Given the description of an element on the screen output the (x, y) to click on. 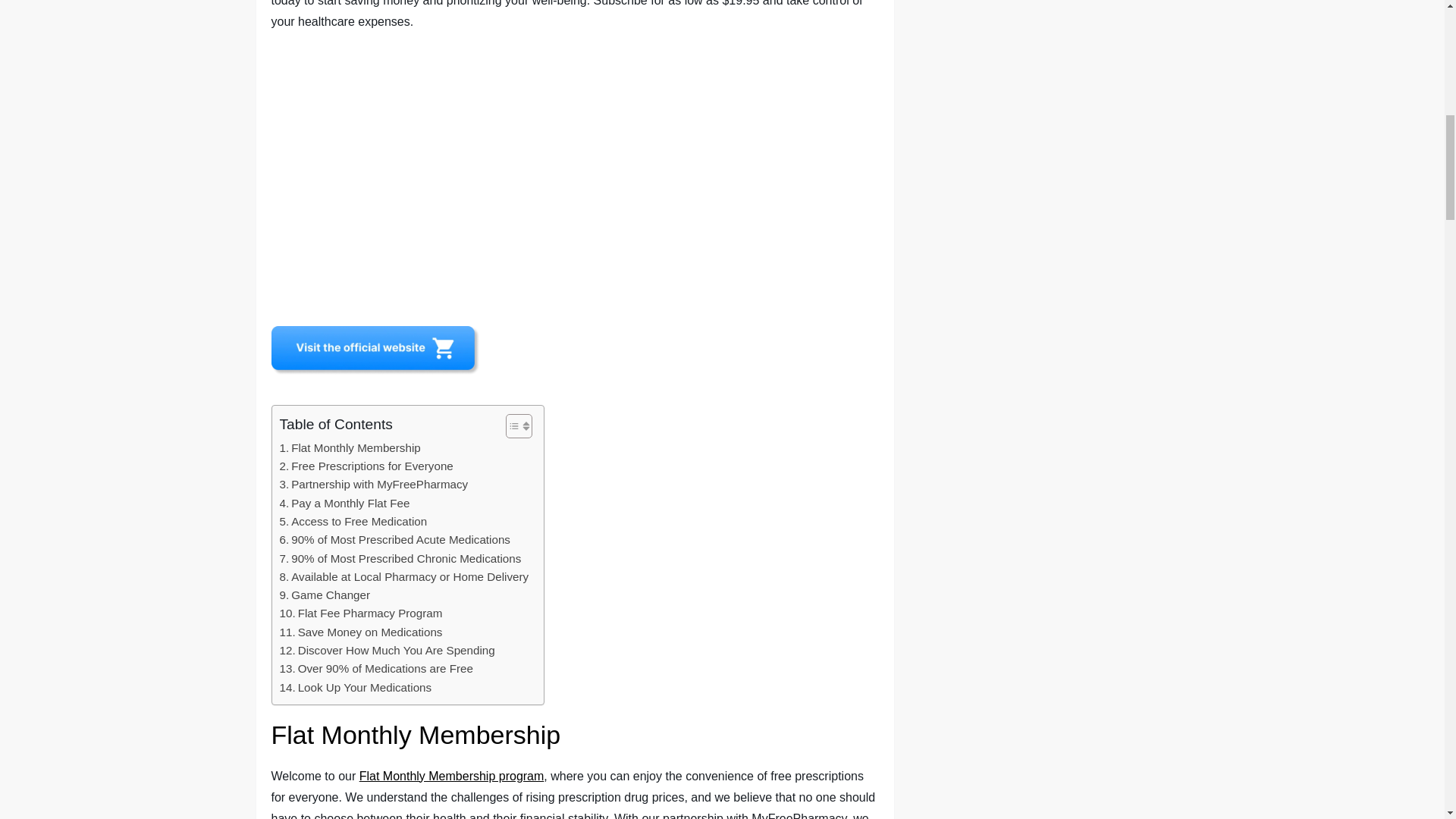
Access to Free Medication (352, 521)
Pay a Monthly Flat Fee (344, 503)
Free Prescriptions for Everyone (365, 466)
Access to Free Medication (352, 521)
Discover How Much You Are Spending (387, 650)
Flat Monthly Membership program (451, 775)
Save Money on Medications (360, 632)
Partnership with MyFreePharmacy (373, 484)
Free Prescriptions for Everyone (365, 466)
Flat Fee Pharmacy Program (360, 613)
